Given the description of an element on the screen output the (x, y) to click on. 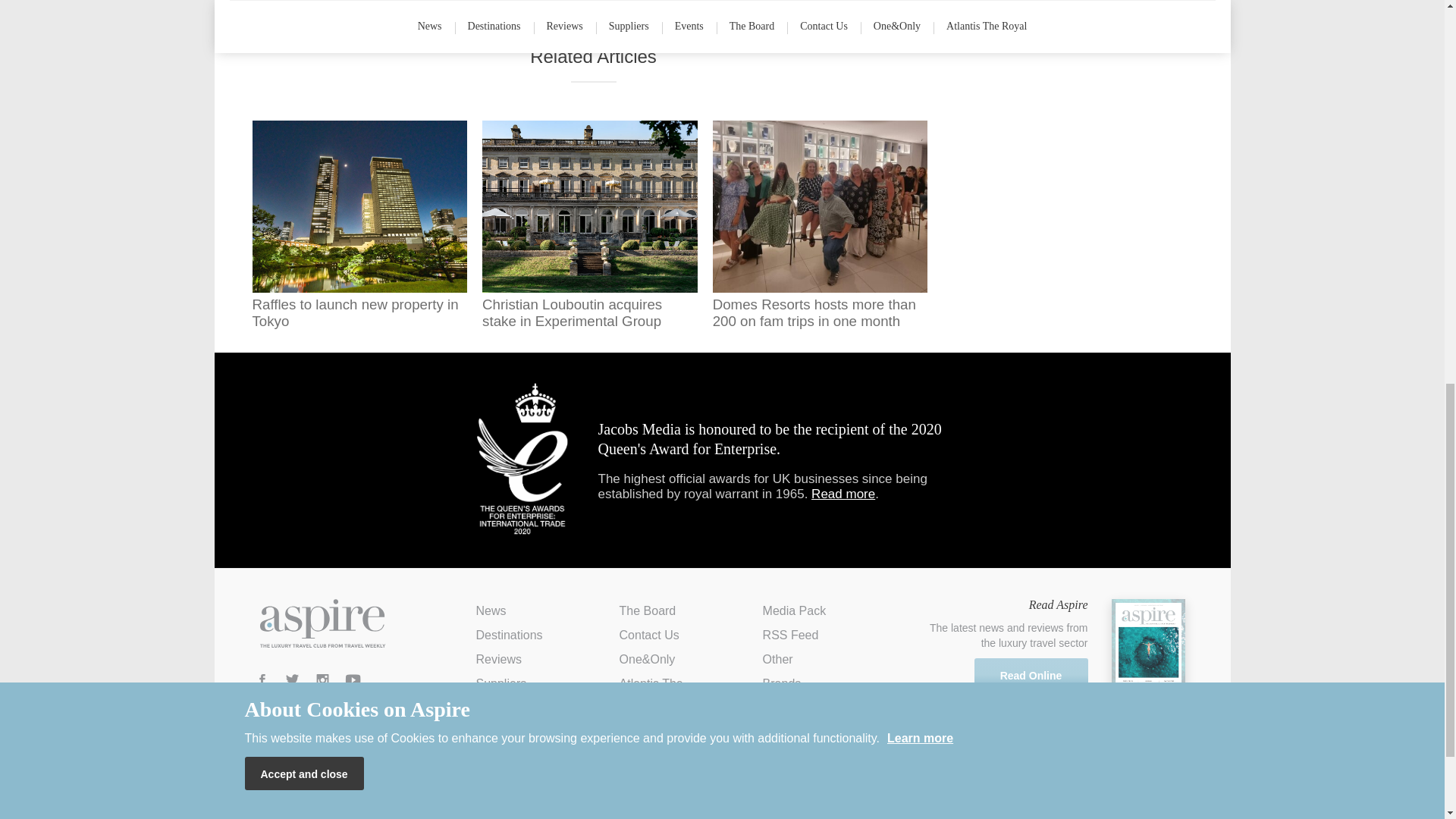
Destinations (509, 634)
Domes Resorts hosts more than 200 on fam trips in one month (820, 225)
Raffles to launch new property in Tokyo (359, 225)
Read more (842, 493)
News (491, 610)
Christian Louboutin acquires stake in Experimental Group (589, 225)
Aspire - The Luxury Travel Club from Travel Weekly (322, 622)
